Given the description of an element on the screen output the (x, y) to click on. 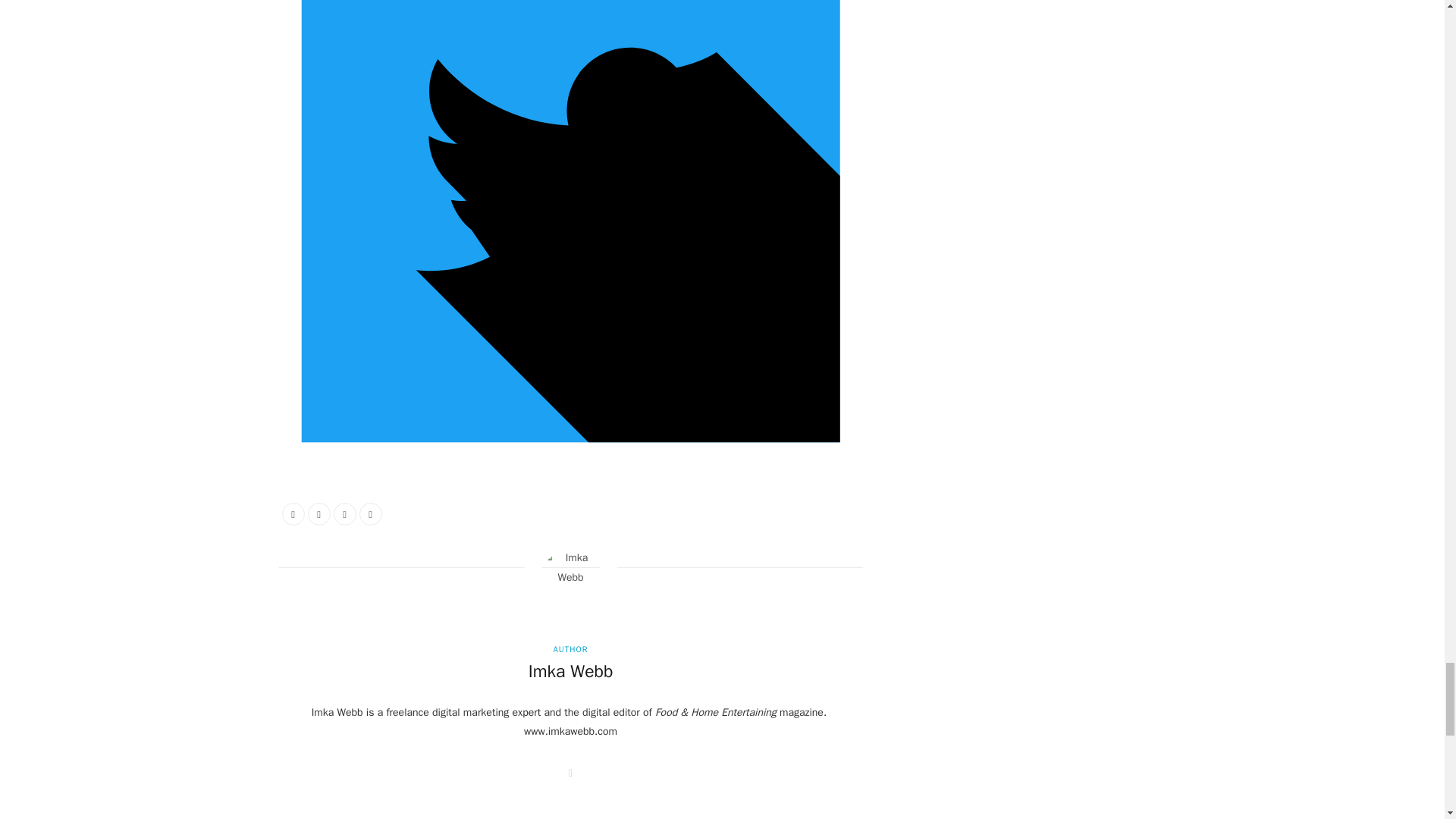
Facebook (293, 513)
